Given the description of an element on the screen output the (x, y) to click on. 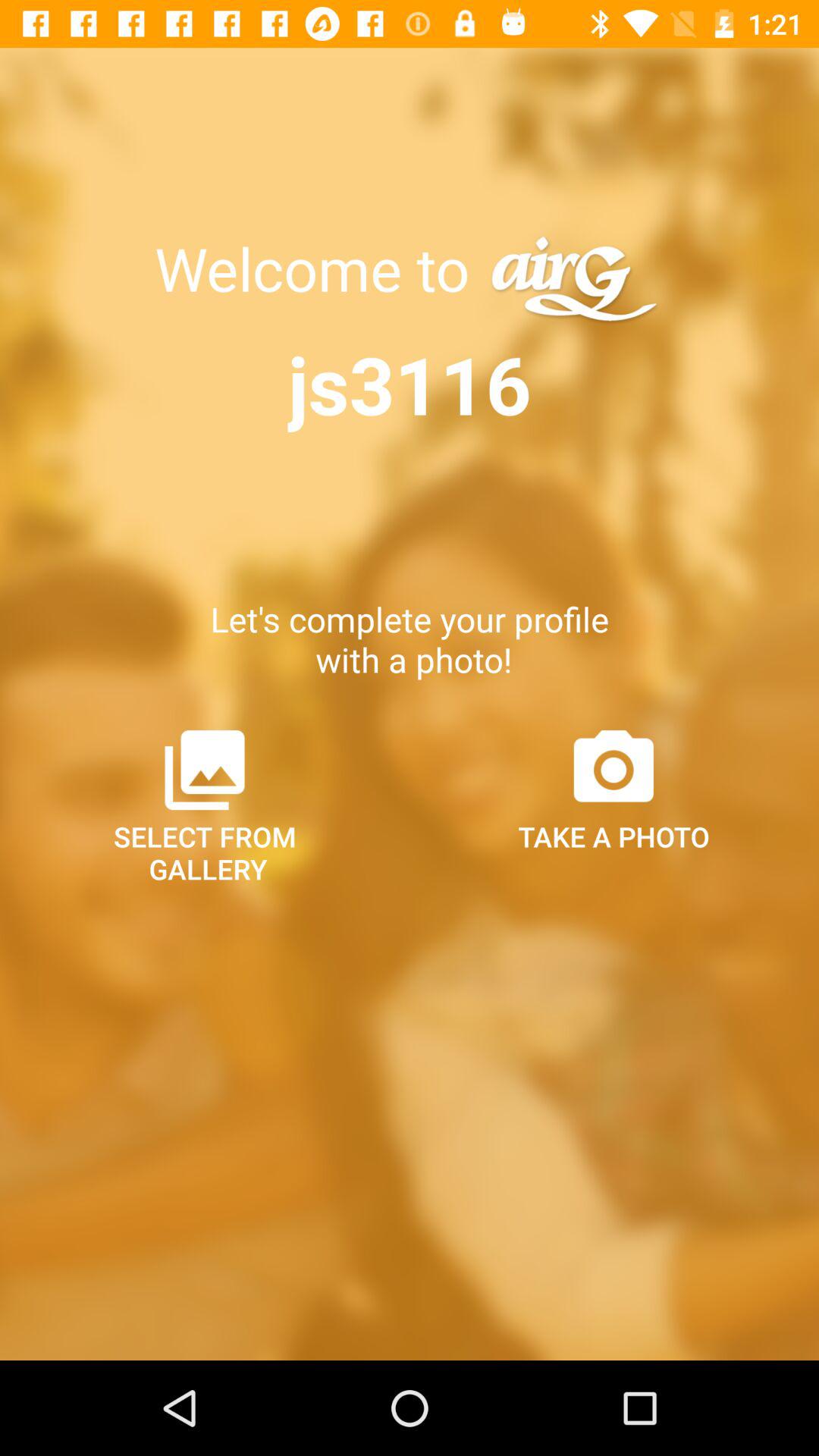
click the welcome to  item (319, 268)
